Given the description of an element on the screen output the (x, y) to click on. 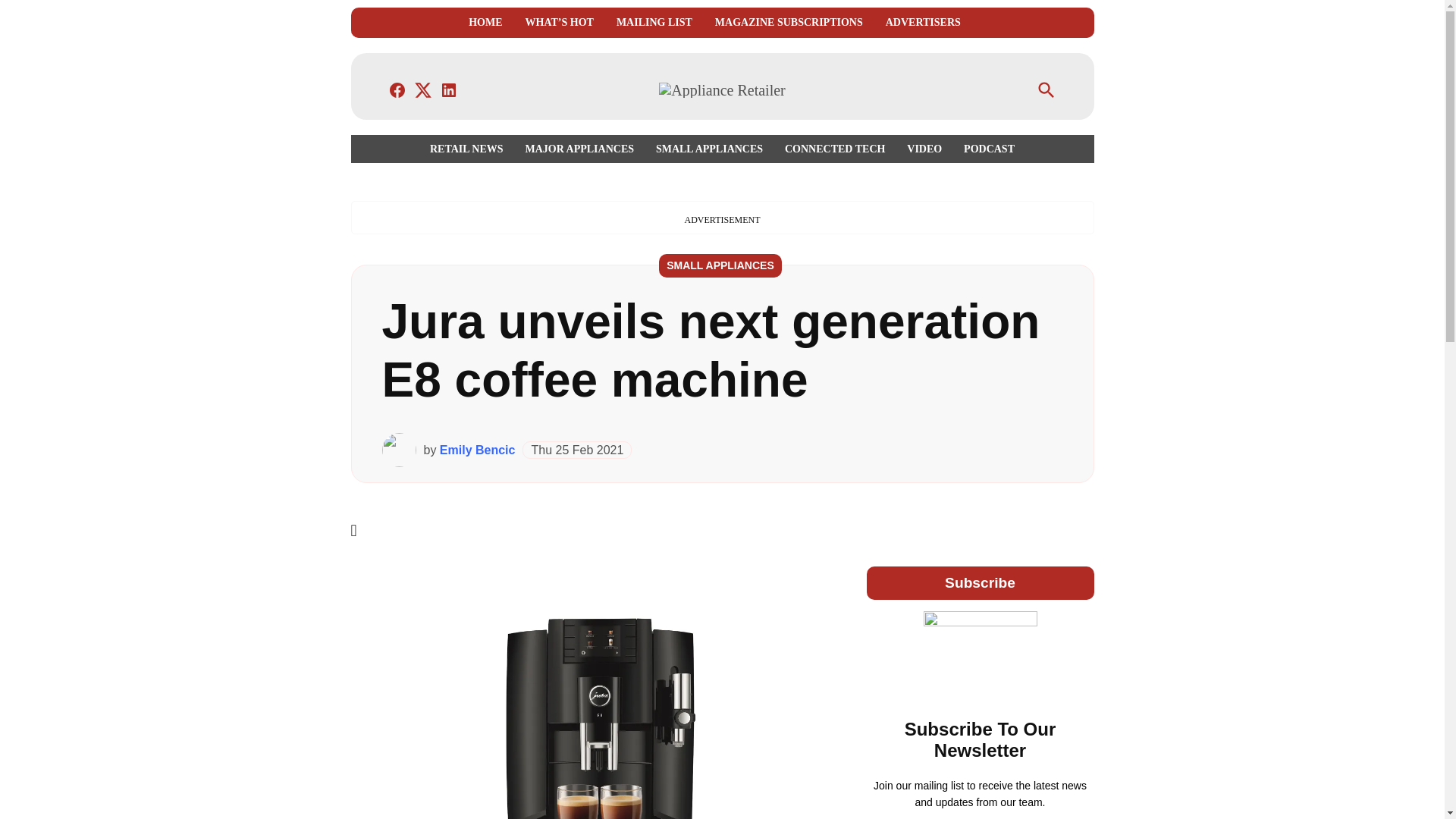
LINKEDIN (448, 90)
TWITTER (422, 90)
FACEBOOK (397, 90)
MAILING LIST (653, 22)
Emily Bencic (477, 449)
VIDEO (924, 148)
CONNECTED TECH (834, 148)
ADVERTISERS (922, 22)
HOME (484, 22)
PODCAST (985, 148)
